Given the description of an element on the screen output the (x, y) to click on. 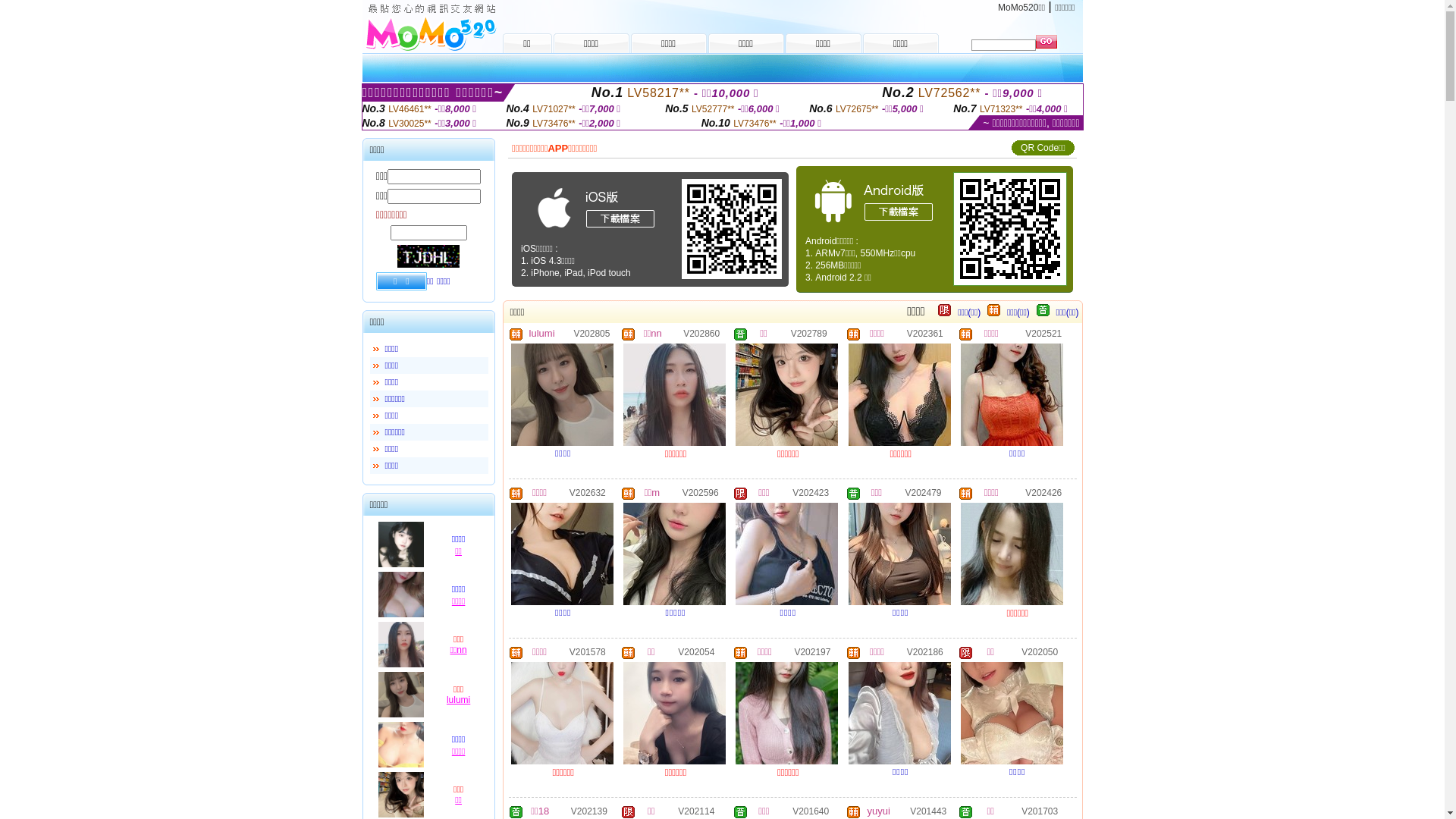
lulumi Element type: text (458, 699)
V201578 Element type: text (587, 651)
V202050 Element type: text (1039, 651)
V202114 Element type: text (695, 810)
V202361 Element type: text (924, 332)
V202632 Element type: text (587, 491)
V201443 Element type: text (928, 810)
V202423 Element type: text (810, 491)
V202805 Element type: text (591, 332)
V202479 Element type: text (922, 491)
V202186 Element type: text (924, 651)
V202860 Element type: text (701, 332)
V202139 Element type: text (589, 810)
V201640 Element type: text (810, 810)
V202521 Element type: text (1043, 332)
yuyui Element type: text (878, 811)
V202596 Element type: text (700, 491)
V202426 Element type: text (1043, 491)
V202789 Element type: text (808, 332)
lulumi Element type: text (542, 333)
V202197 Element type: text (811, 651)
V201703 Element type: text (1039, 810)
V202054 Element type: text (695, 651)
